Given the description of an element on the screen output the (x, y) to click on. 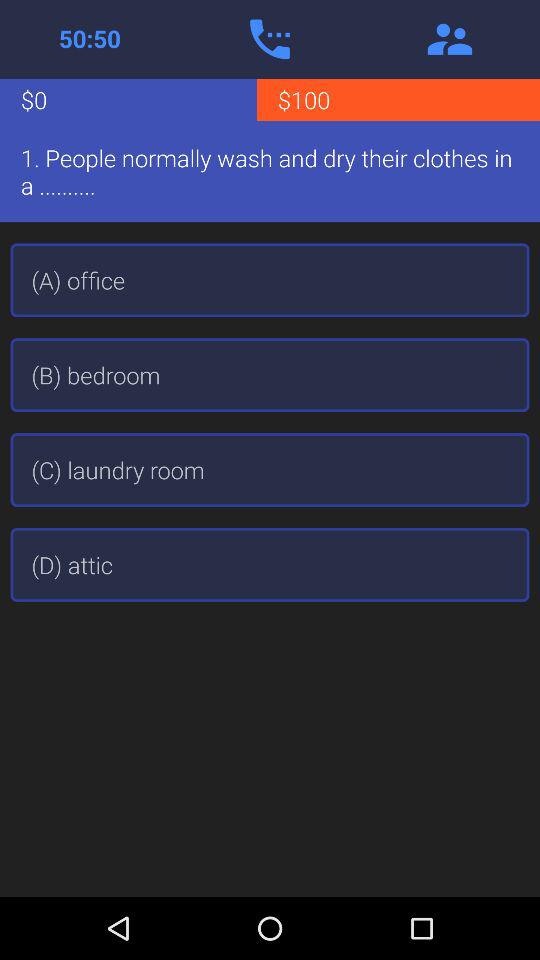
turn off (a) office (269, 280)
